Given the description of an element on the screen output the (x, y) to click on. 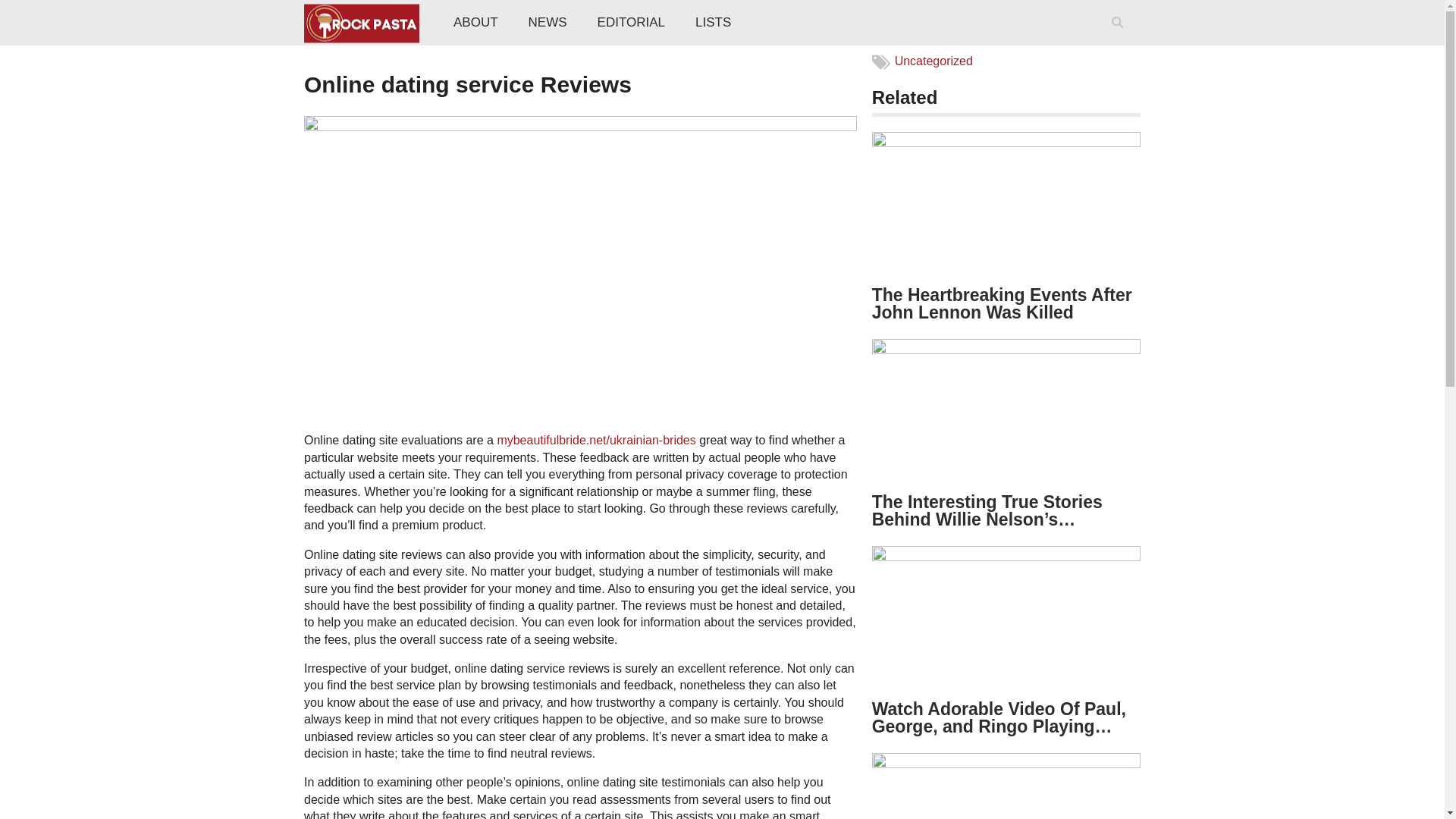
The Heartbreaking Events After John Lennon Was Killed (1002, 303)
Search (1120, 42)
EDITORIAL (630, 22)
LISTS (712, 22)
Search (1120, 42)
Search (1120, 42)
ABOUT (475, 22)
Uncategorized (933, 60)
NEWS (547, 22)
